Given the description of an element on the screen output the (x, y) to click on. 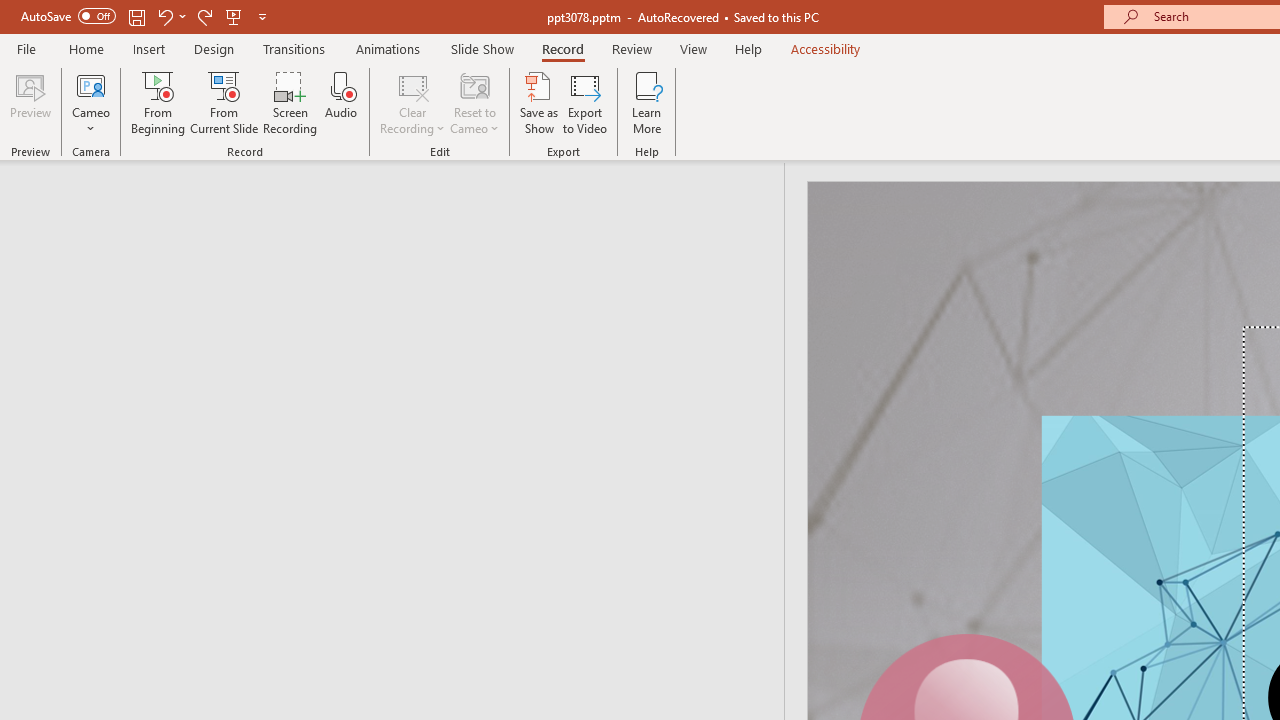
Screen Recording (290, 102)
